Given the description of an element on the screen output the (x, y) to click on. 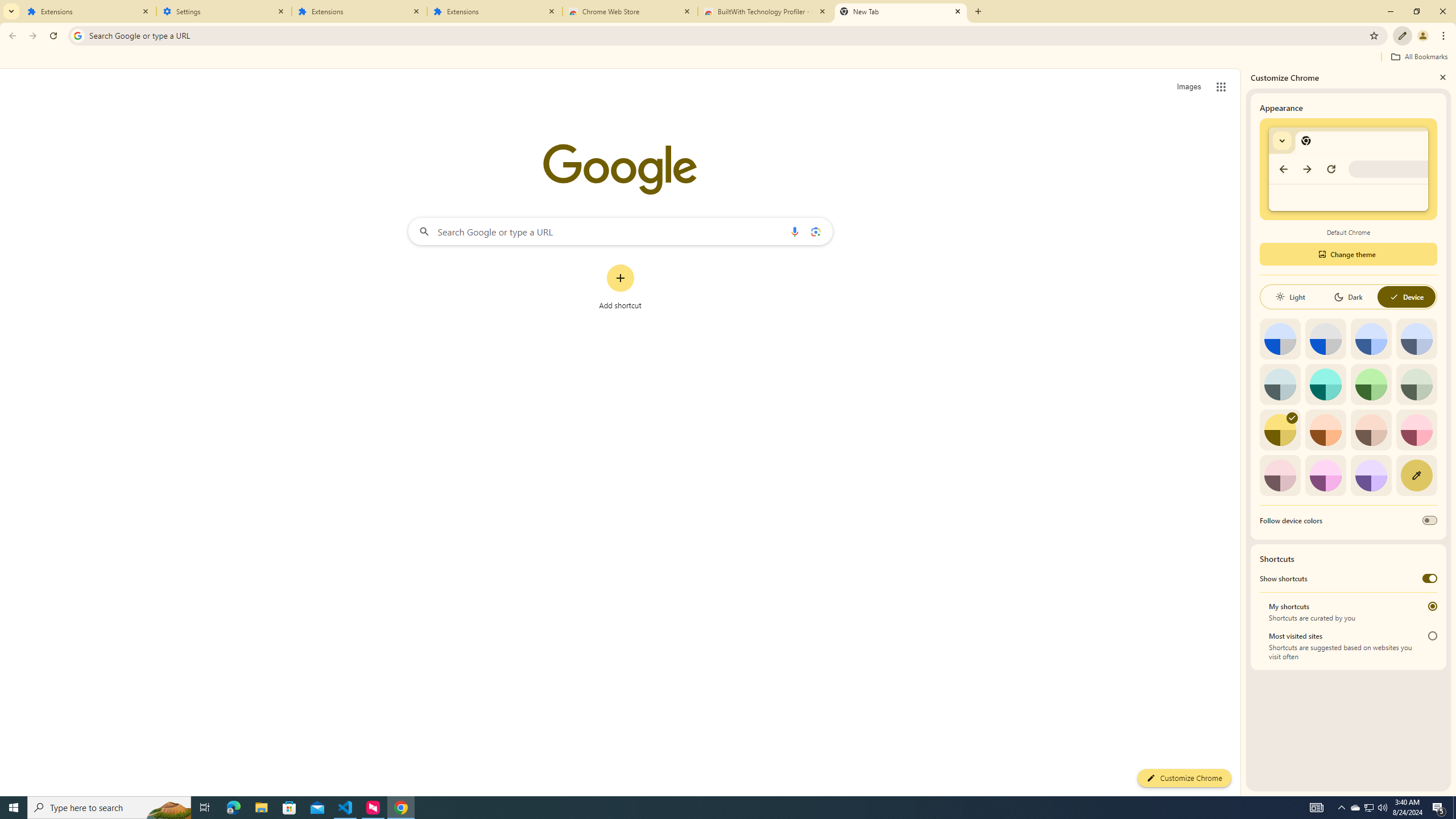
Show shortcuts (1429, 578)
AutomationID: svg (1292, 417)
Citron (1279, 429)
Orange (1325, 429)
BuiltWith Technology Profiler - Chrome Web Store (765, 11)
Viridian (1416, 383)
Extensions (359, 11)
Custom color (1416, 475)
